Given the description of an element on the screen output the (x, y) to click on. 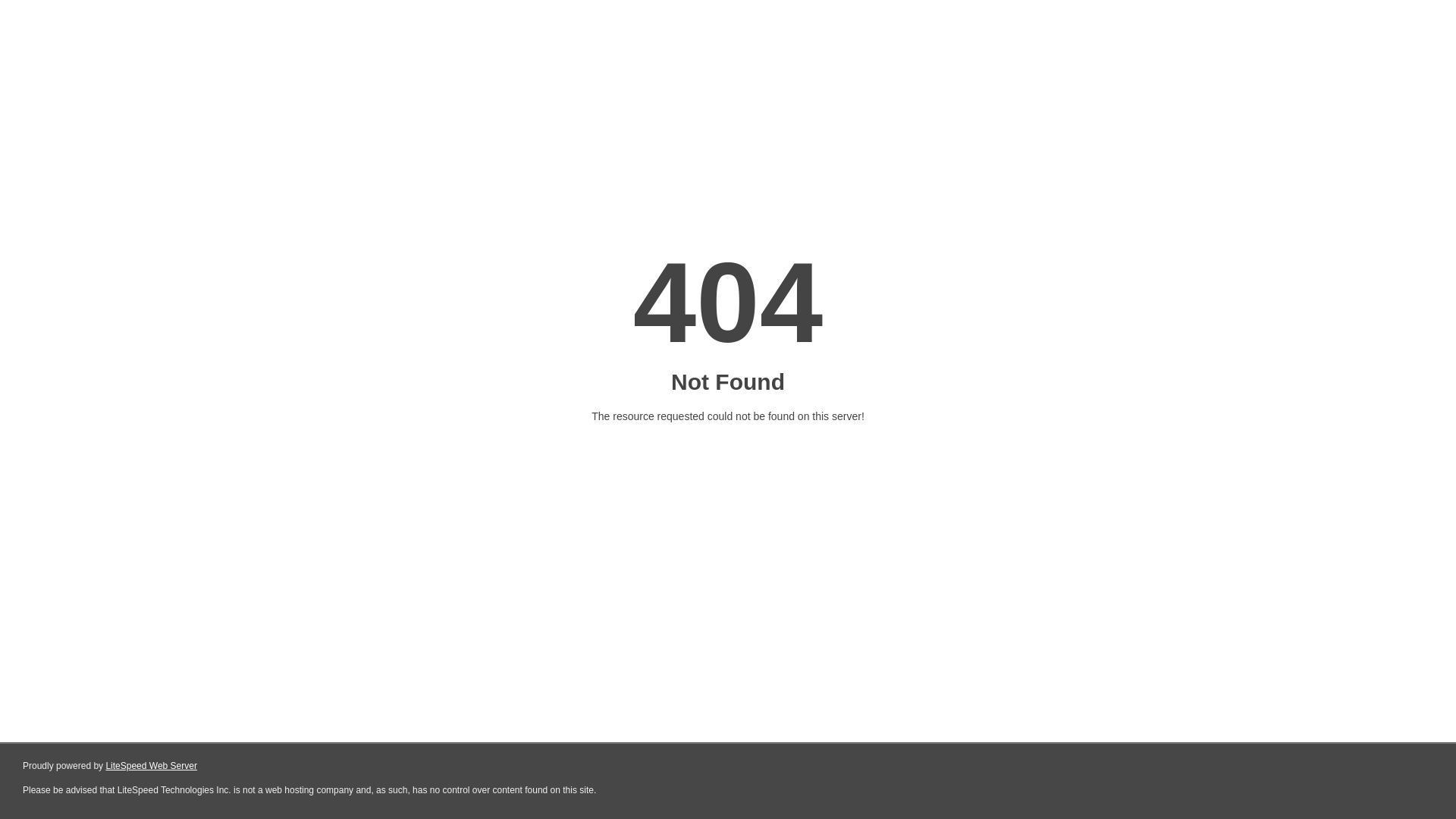
LiteSpeed Web Server Element type: text (151, 765)
